Given the description of an element on the screen output the (x, y) to click on. 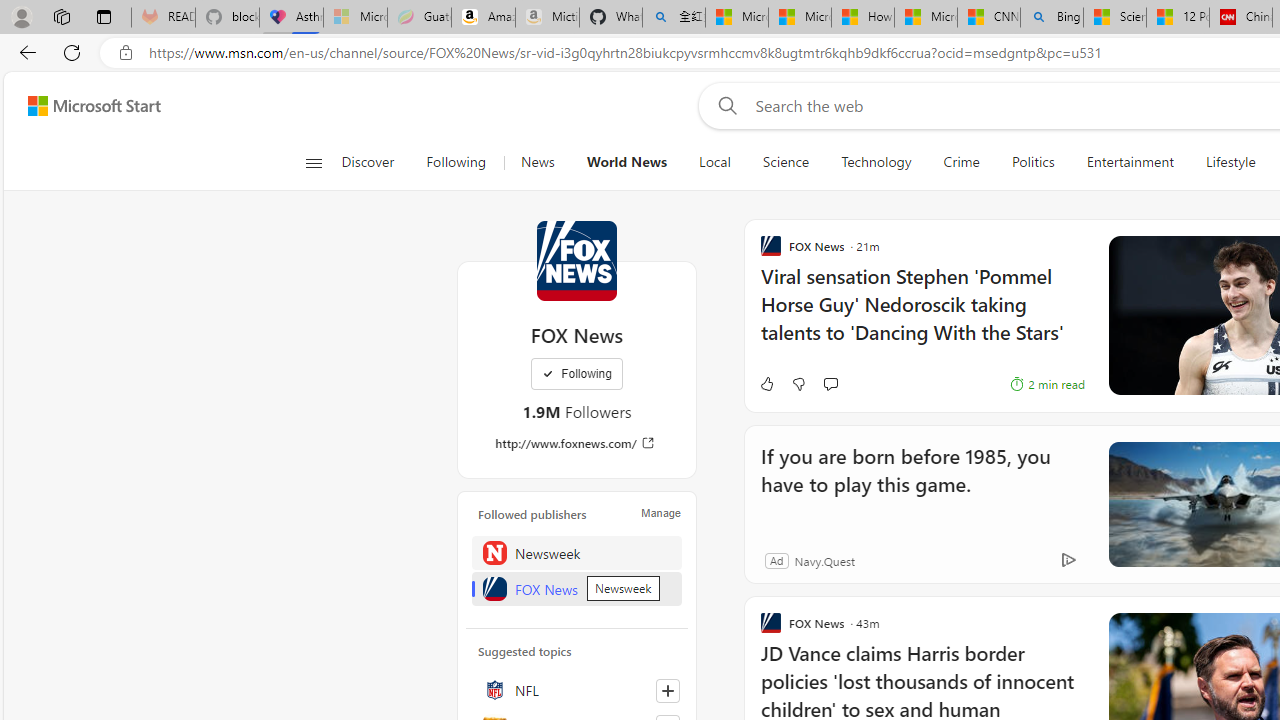
http://www.foxnews.com/ (576, 443)
